Given the description of an element on the screen output the (x, y) to click on. 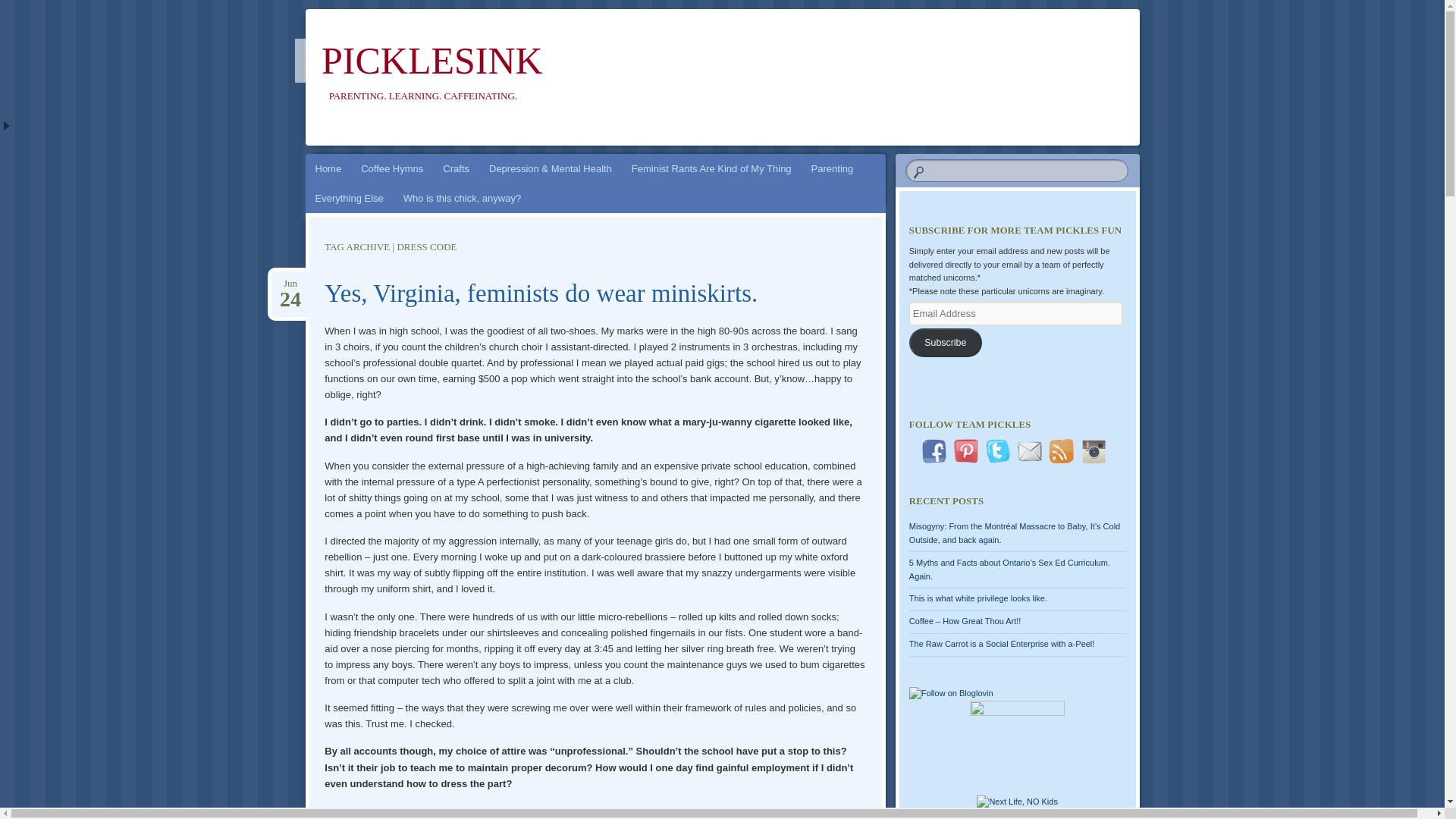
Team Pickles is on Facebook (933, 450)
Coffee Hymns (391, 168)
Team Pickles is on E-mail (1029, 450)
Team Pickles is on Twitter (997, 450)
Parenting (289, 283)
Yes, Virginia, feminists do wear miniskirts. (832, 168)
June 24, 2014 (540, 293)
Crafts (289, 283)
PICKLESINK (455, 168)
